Given the description of an element on the screen output the (x, y) to click on. 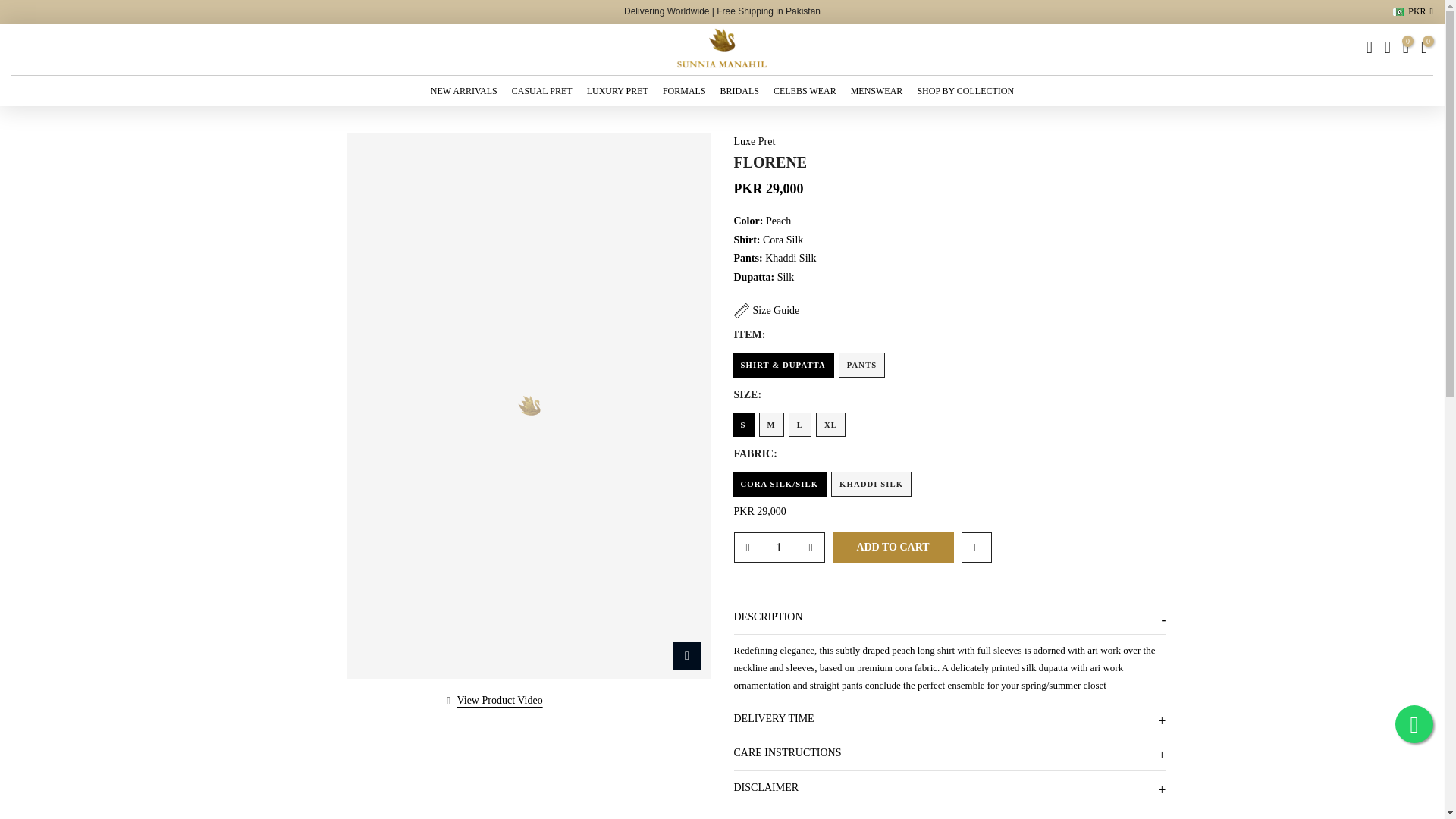
CELEBS WEAR (804, 91)
FORMALS (684, 91)
0 (1405, 49)
BRIDALS (739, 91)
LUXURY PRET (617, 91)
SHOP BY COLLECTION (966, 91)
1 (778, 547)
MENSWEAR (876, 91)
CASUAL PRET (541, 91)
NEW ARRIVALS (463, 91)
